Given the description of an element on the screen output the (x, y) to click on. 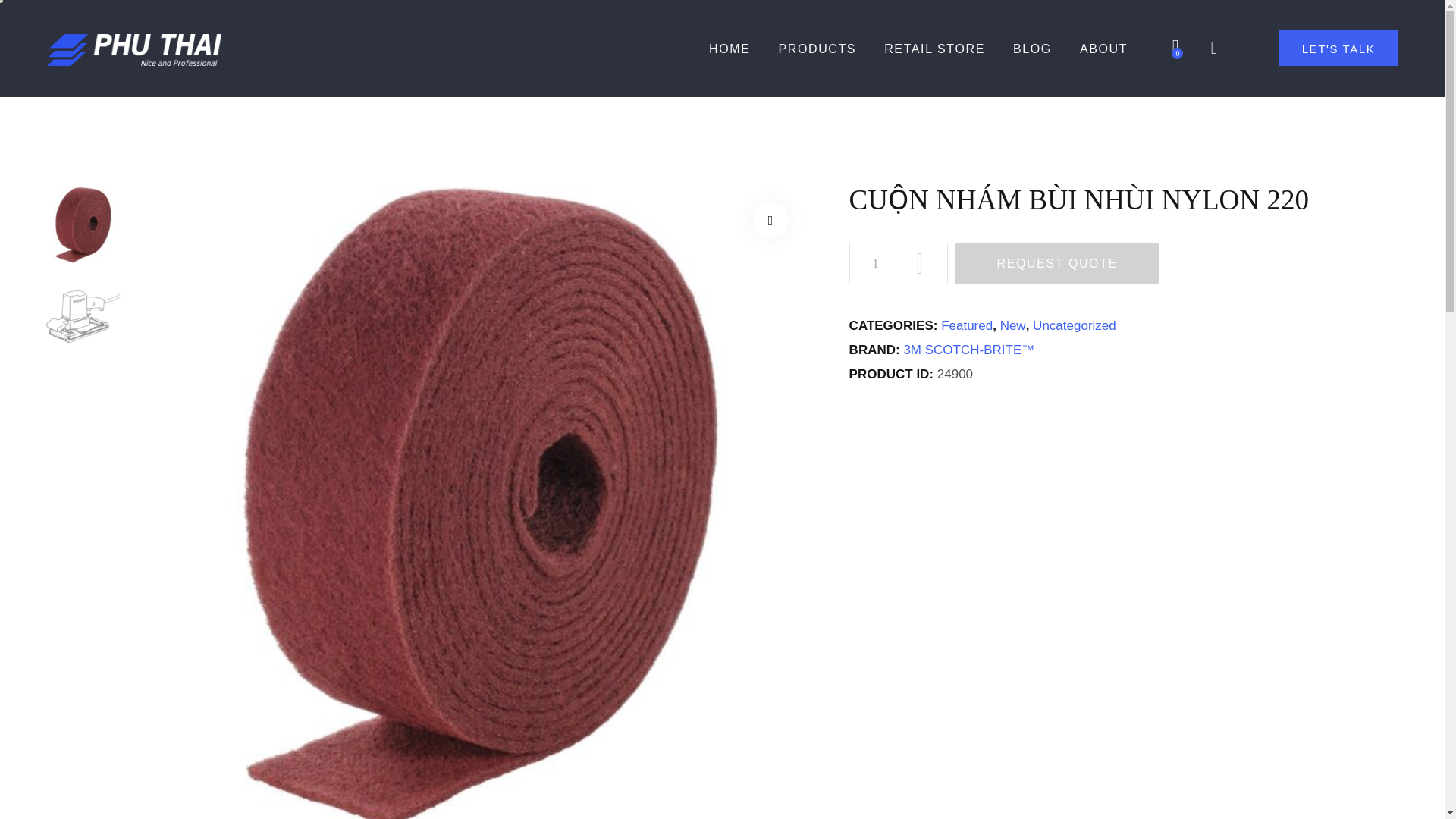
RETAIL STORE (934, 50)
BLOG (1031, 50)
ABOUT (1103, 50)
1 (897, 263)
PRODUCTS (817, 50)
HOME (736, 50)
Featured (966, 325)
LET'S TALK (1338, 48)
REQUEST QUOTE (1056, 263)
New (1013, 325)
